Given the description of an element on the screen output the (x, y) to click on. 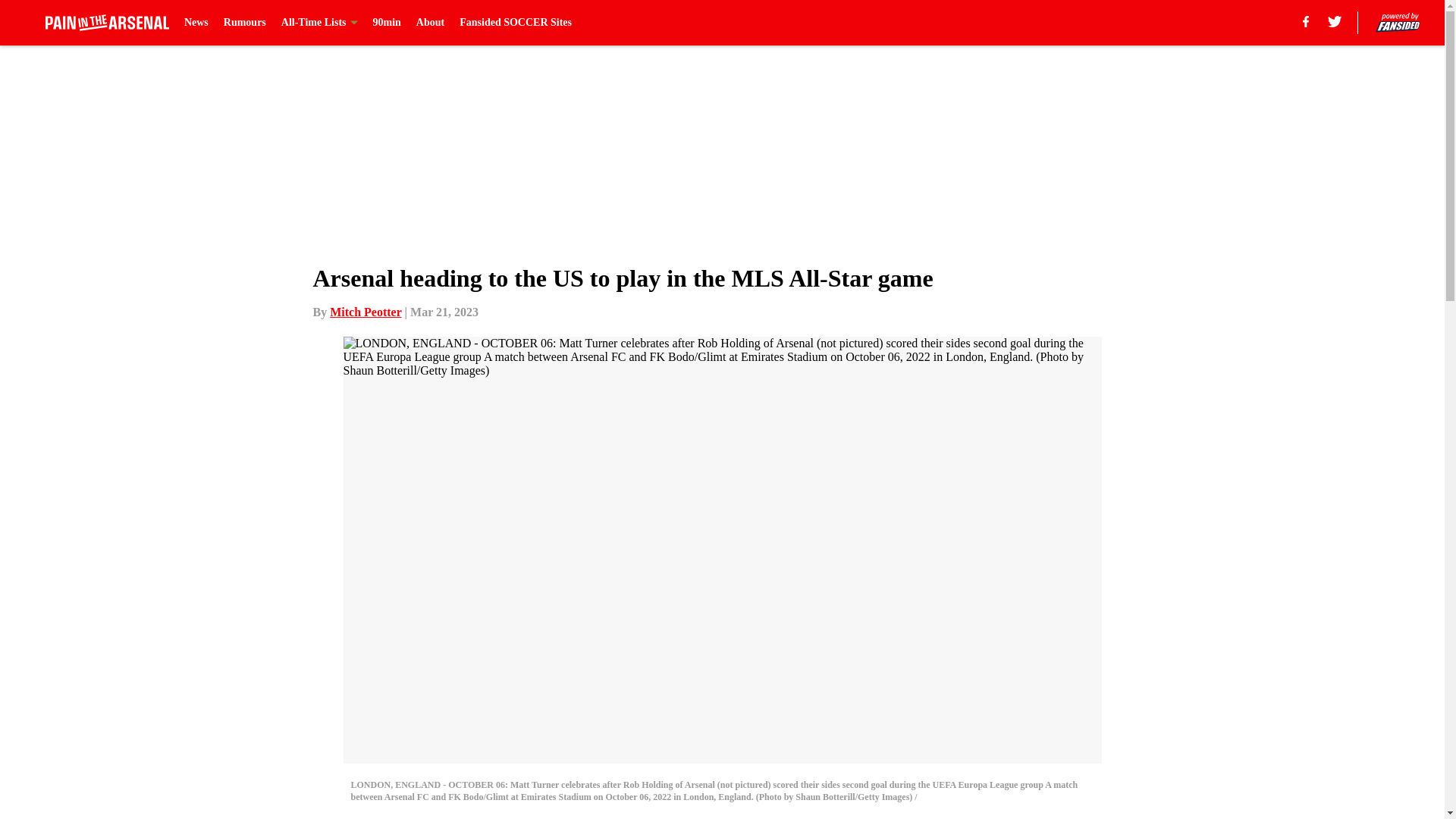
About (430, 22)
Fansided SOCCER Sites (516, 22)
Rumours (245, 22)
90min (386, 22)
Mitch Peotter (365, 311)
News (196, 22)
